Given the description of an element on the screen output the (x, y) to click on. 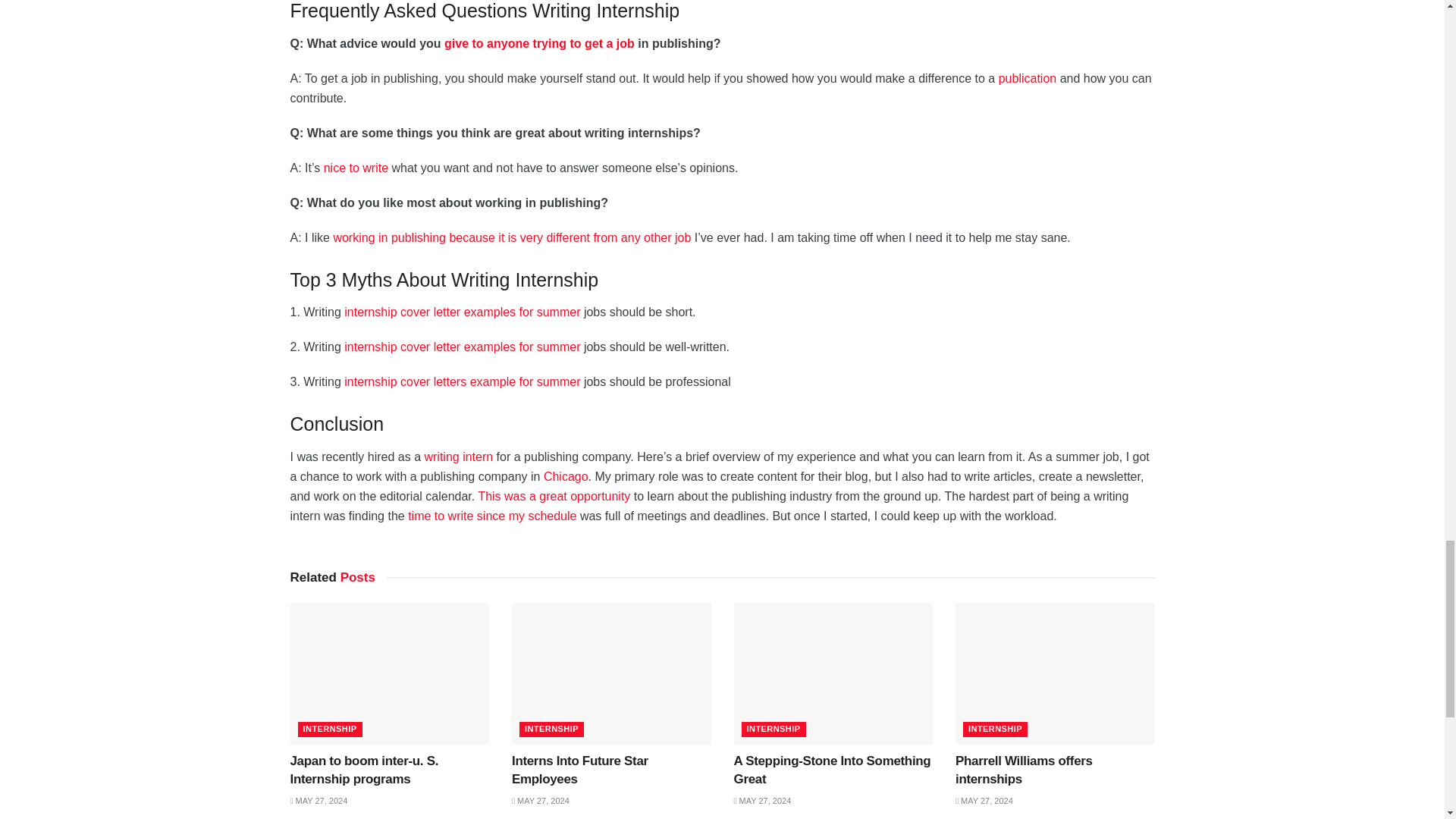
How to Make Money with the University Center of Chicago (565, 476)
About one-in-six U.S. Instructors work 2d jobs (511, 237)
